Given the description of an element on the screen output the (x, y) to click on. 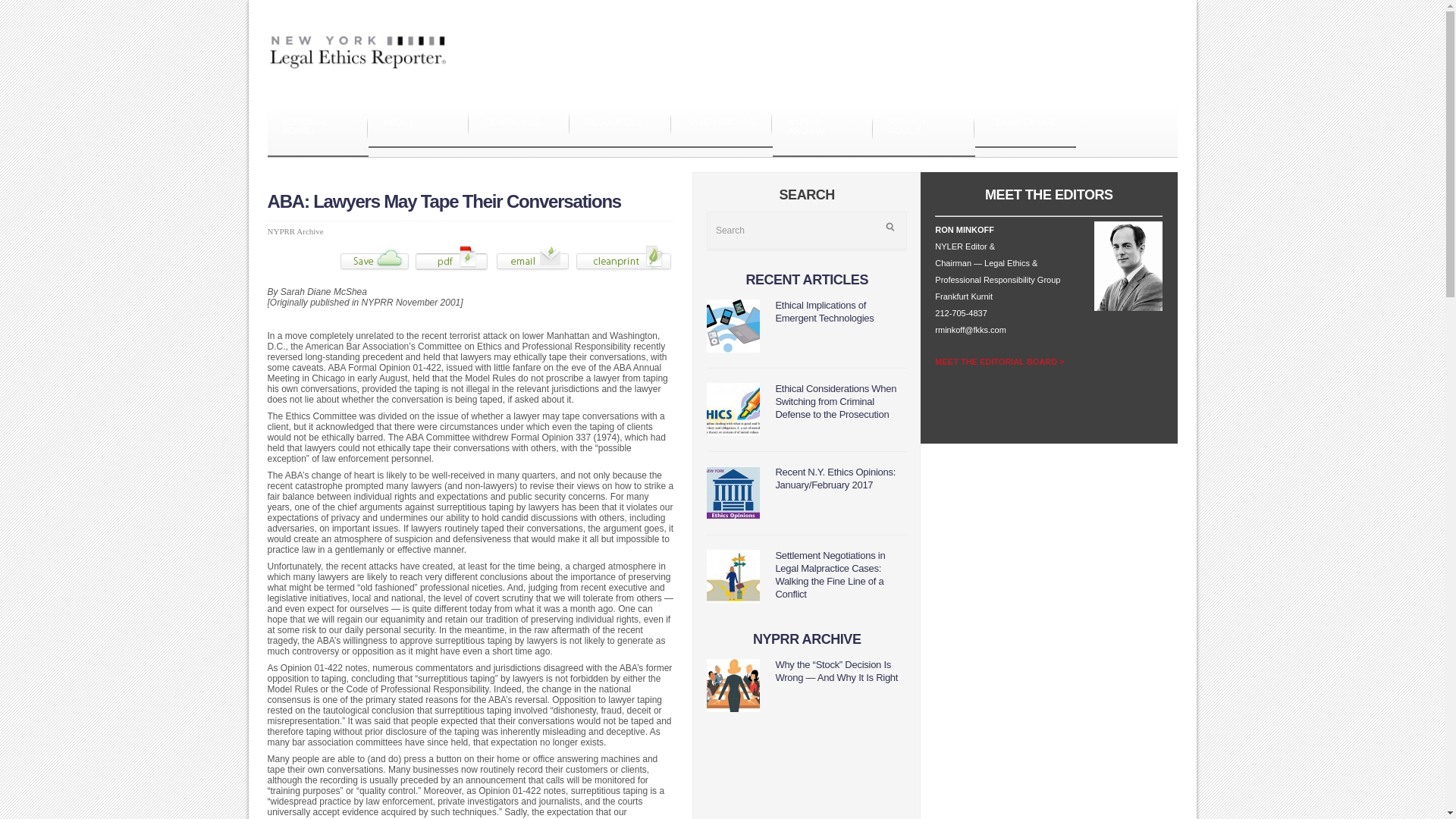
RECENT ARTICLES (806, 279)
PDF page (452, 270)
CONTACT US (519, 125)
PRIVACY POLICY (923, 129)
NYPRR ARCHIVE (823, 129)
RESOURCES (620, 125)
NYPRR Archive (294, 230)
ABA: Lawyers May Tape Their Conversations (443, 200)
Print page (623, 270)
ABOUT (418, 125)
Email page (532, 270)
Search (806, 230)
Save page (374, 270)
TERMS OF USE (1025, 125)
NYLER ARCHIVE (722, 125)
